Given the description of an element on the screen output the (x, y) to click on. 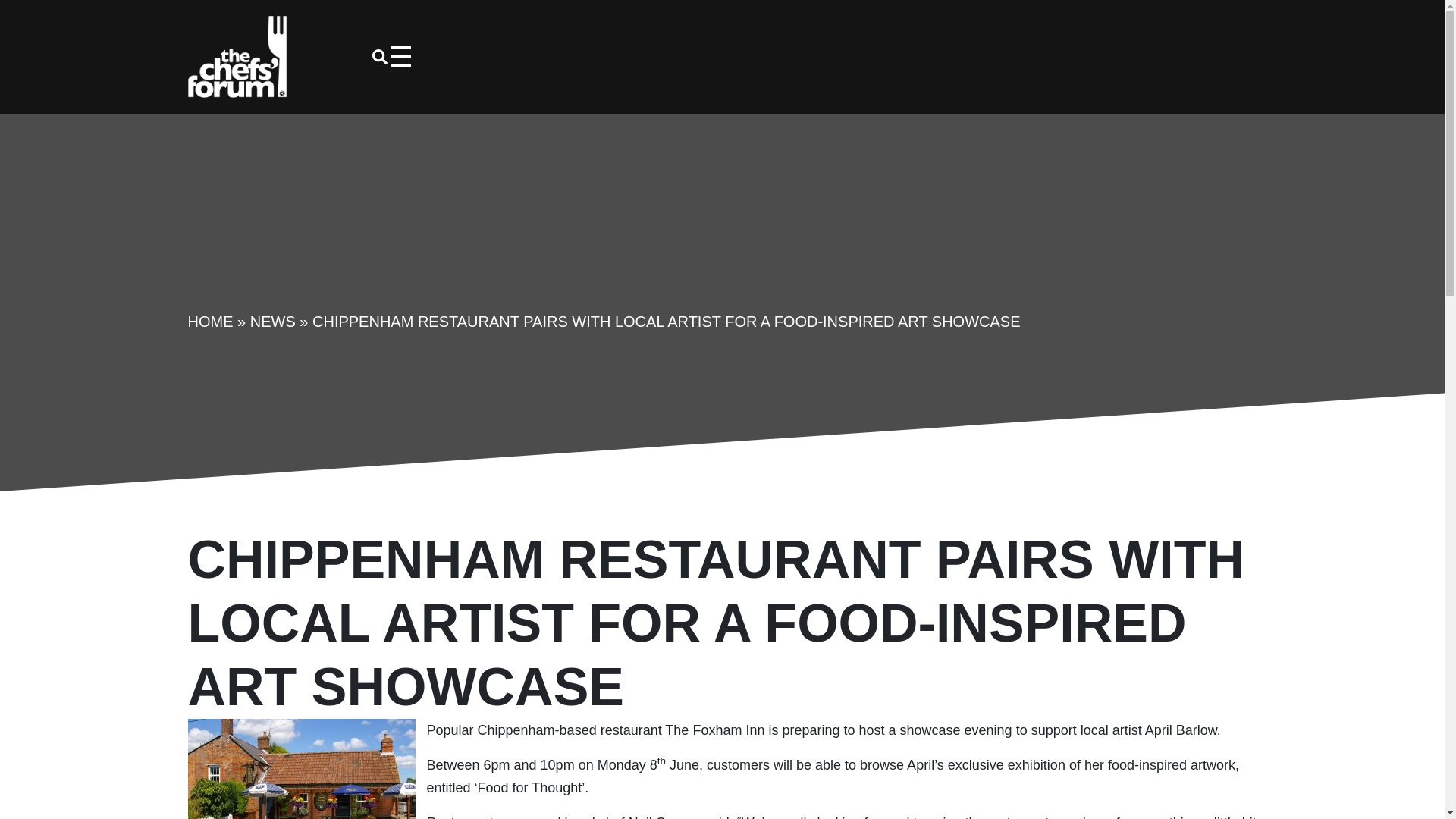
HOME (209, 321)
NEWS (272, 321)
